Given the description of an element on the screen output the (x, y) to click on. 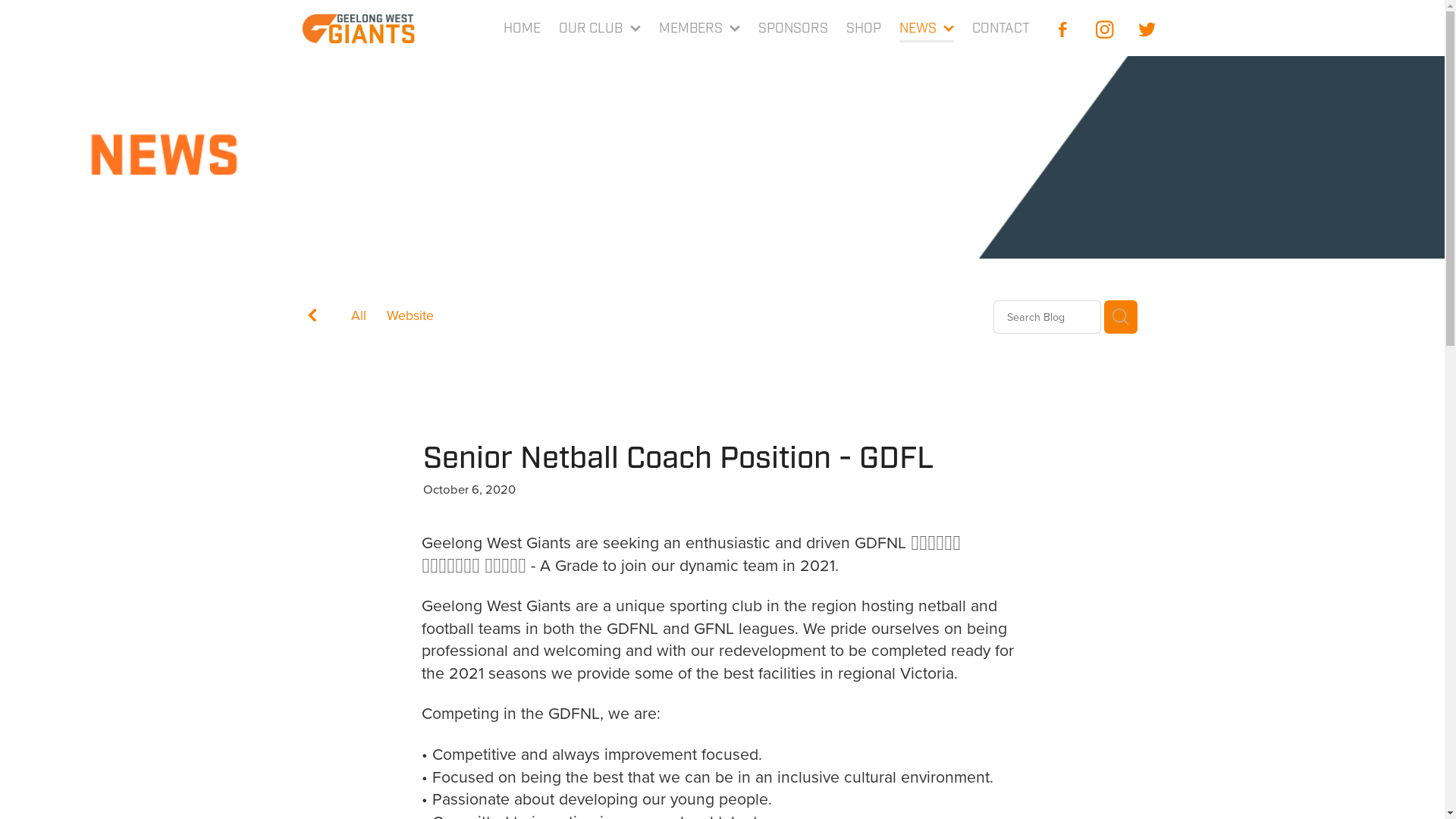
All Element type: text (357, 315)
SPONSORS Element type: text (793, 29)
HOME Element type: text (522, 29)
A link to this website's Facebook. Element type: hover (1062, 29)
Website Element type: text (409, 317)
OUR CLUB Element type: text (599, 29)
CONTACT Element type: text (1000, 29)
SHOP Element type: text (863, 29)
A link to this website's Twitter. Element type: hover (1147, 29)
View all posts Element type: hover (311, 317)
A link to this website's Instagram. Element type: hover (1104, 29)
NEWS Element type: text (926, 29)
MEMBERS Element type: text (699, 29)
